Given the description of an element on the screen output the (x, y) to click on. 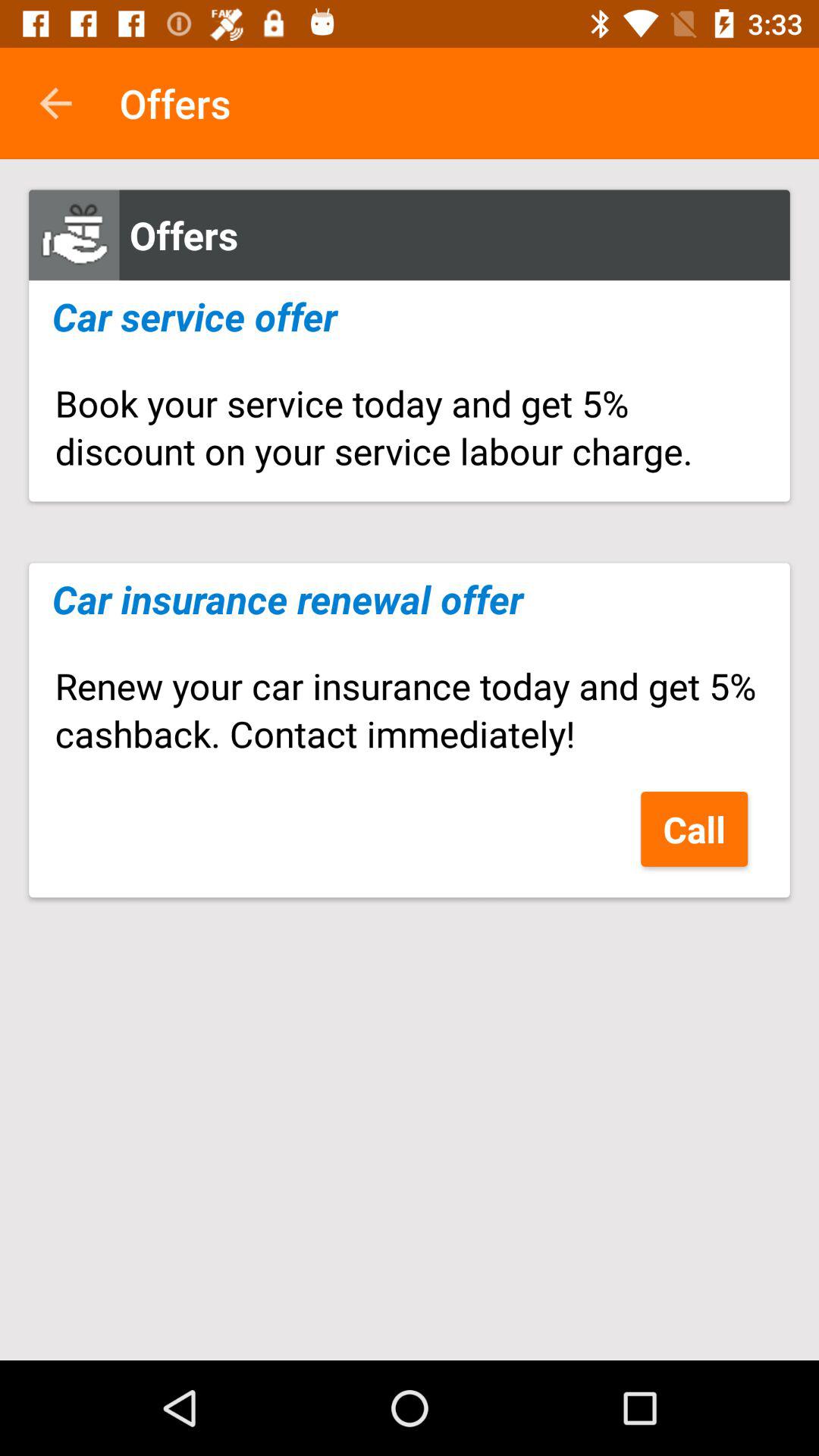
select the  call  on the right (693, 828)
